Given the description of an element on the screen output the (x, y) to click on. 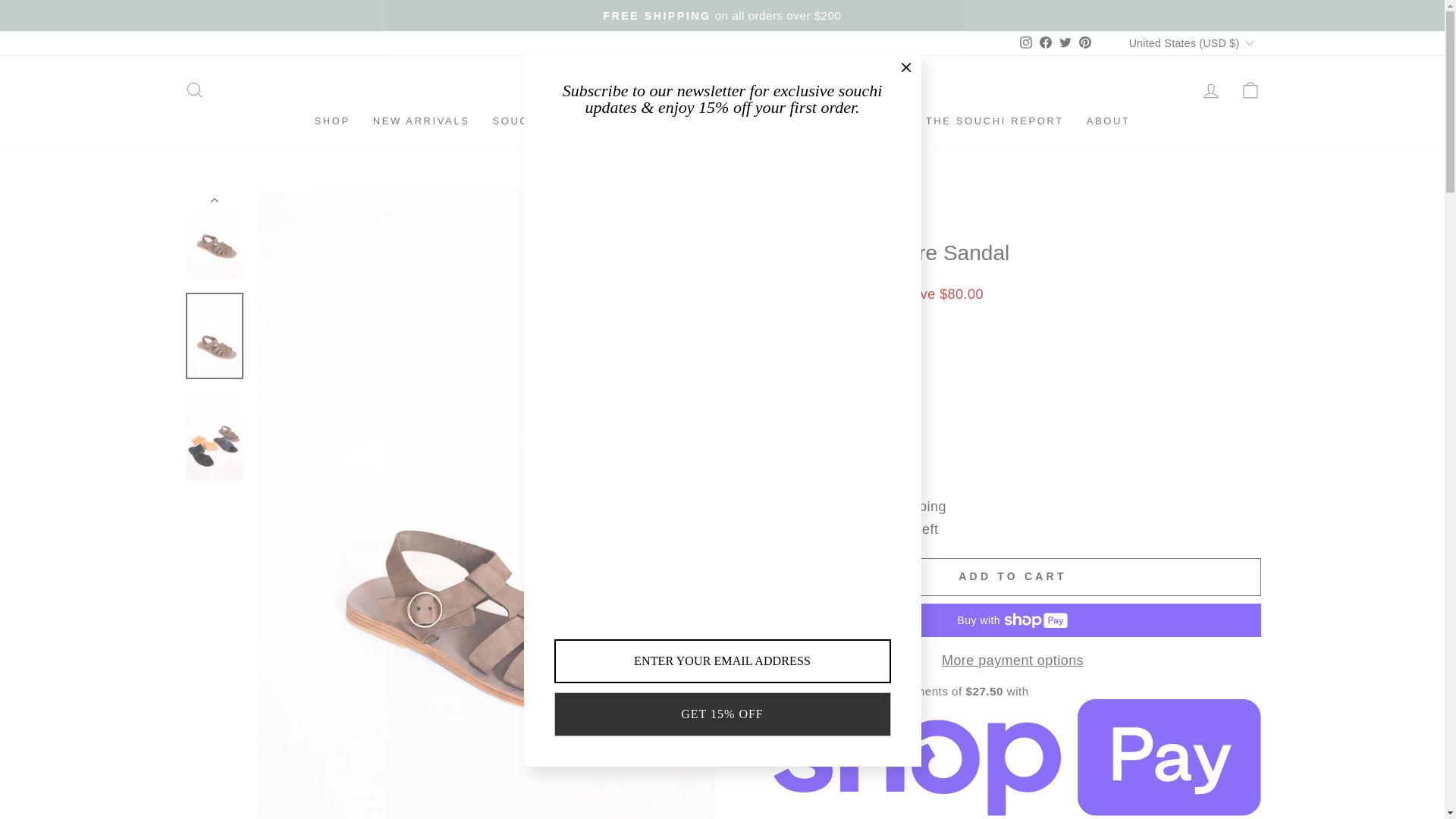
ACCOUNT (1210, 90)
ICON-BAG-MINIMAL (1249, 89)
kyma (786, 228)
instagram (1026, 42)
ICON-SEARCH (194, 89)
twitter (1065, 42)
Back to the frontpage (780, 205)
